Given the description of an element on the screen output the (x, y) to click on. 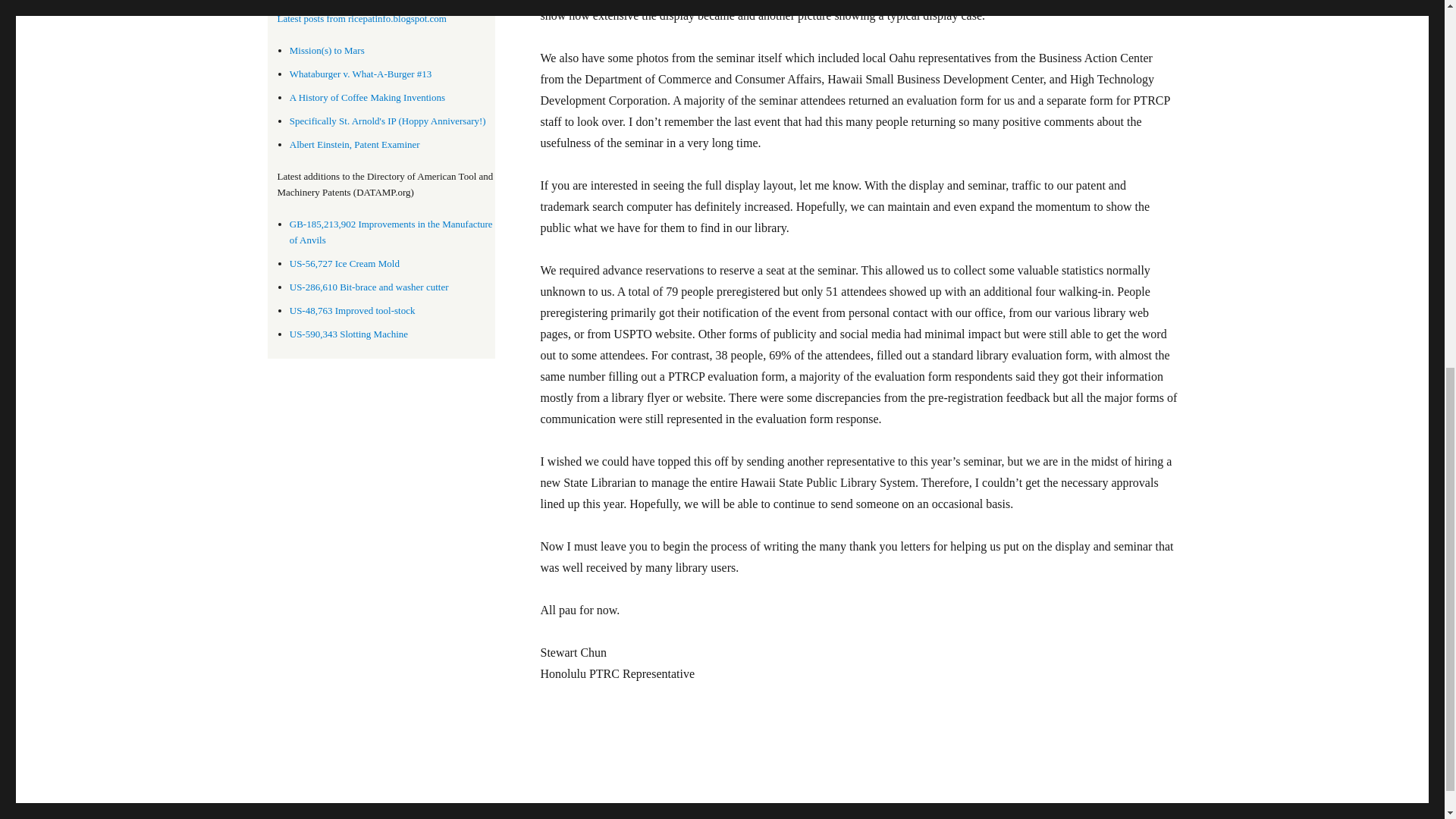
A History of Coffee Making Inventions (367, 97)
Latest posts from ricepatinfo.blogspot.com (386, 19)
